Given the description of an element on the screen output the (x, y) to click on. 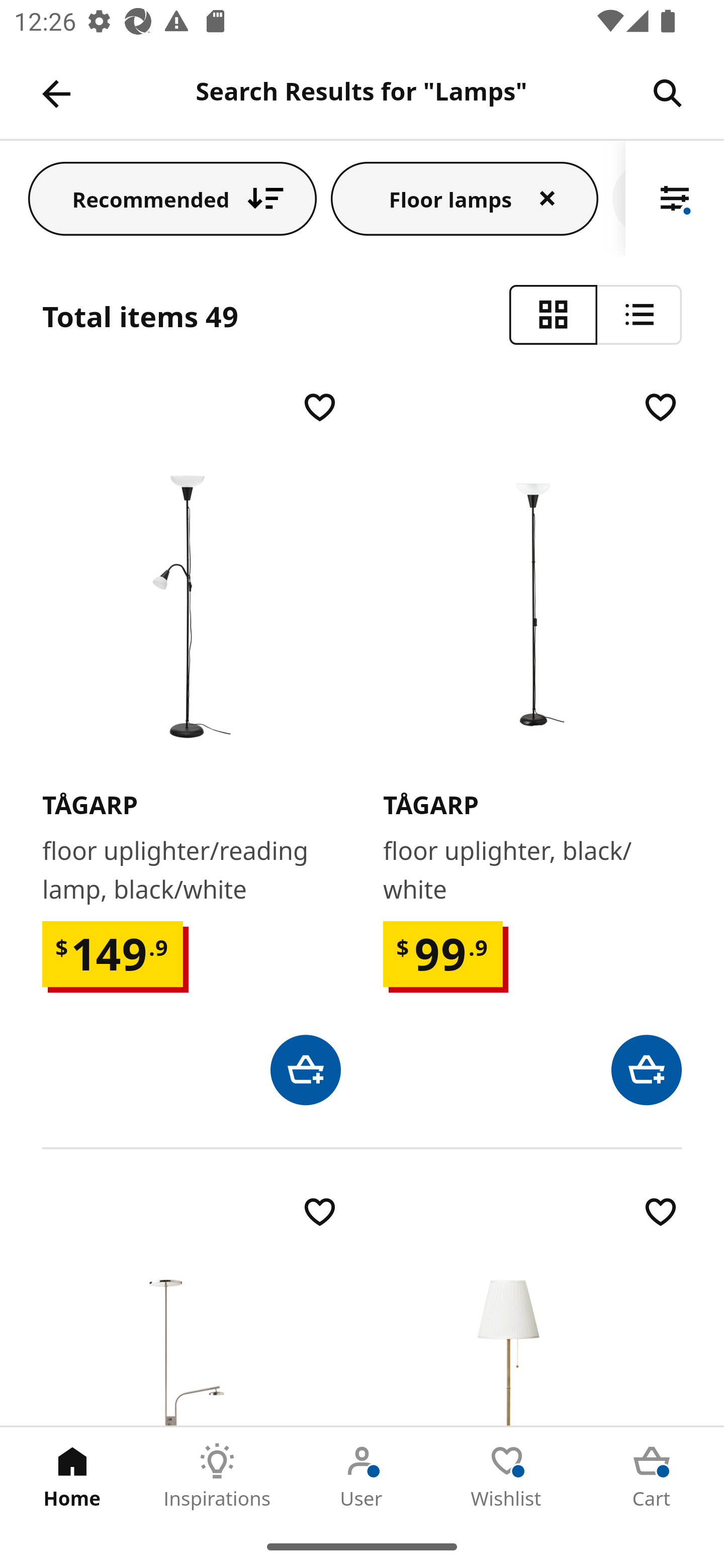
Recommended (172, 198)
Floor lamps (464, 198)
​T​Å​G​A​R​P​
floor uplighter, black/white
$
99
.9 (532, 746)
​Å​R​S​T​I​D​
floor lamp, brass/white
$
449
.9 (532, 1308)
Home
Tab 1 of 5 (72, 1476)
Inspirations
Tab 2 of 5 (216, 1476)
User
Tab 3 of 5 (361, 1476)
Wishlist
Tab 4 of 5 (506, 1476)
Cart
Tab 5 of 5 (651, 1476)
